Given the description of an element on the screen output the (x, y) to click on. 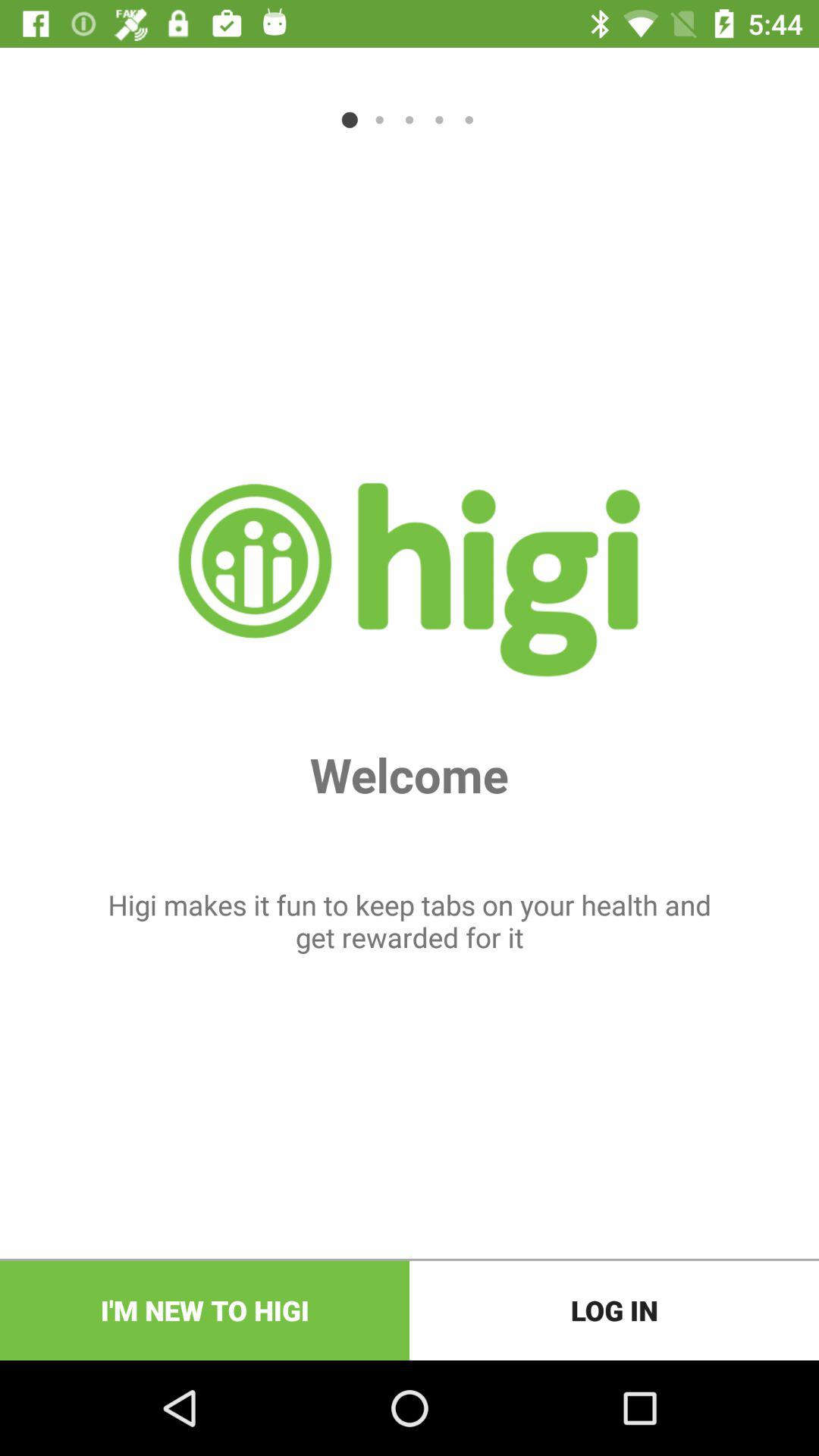
swipe to the i m new item (204, 1310)
